Given the description of an element on the screen output the (x, y) to click on. 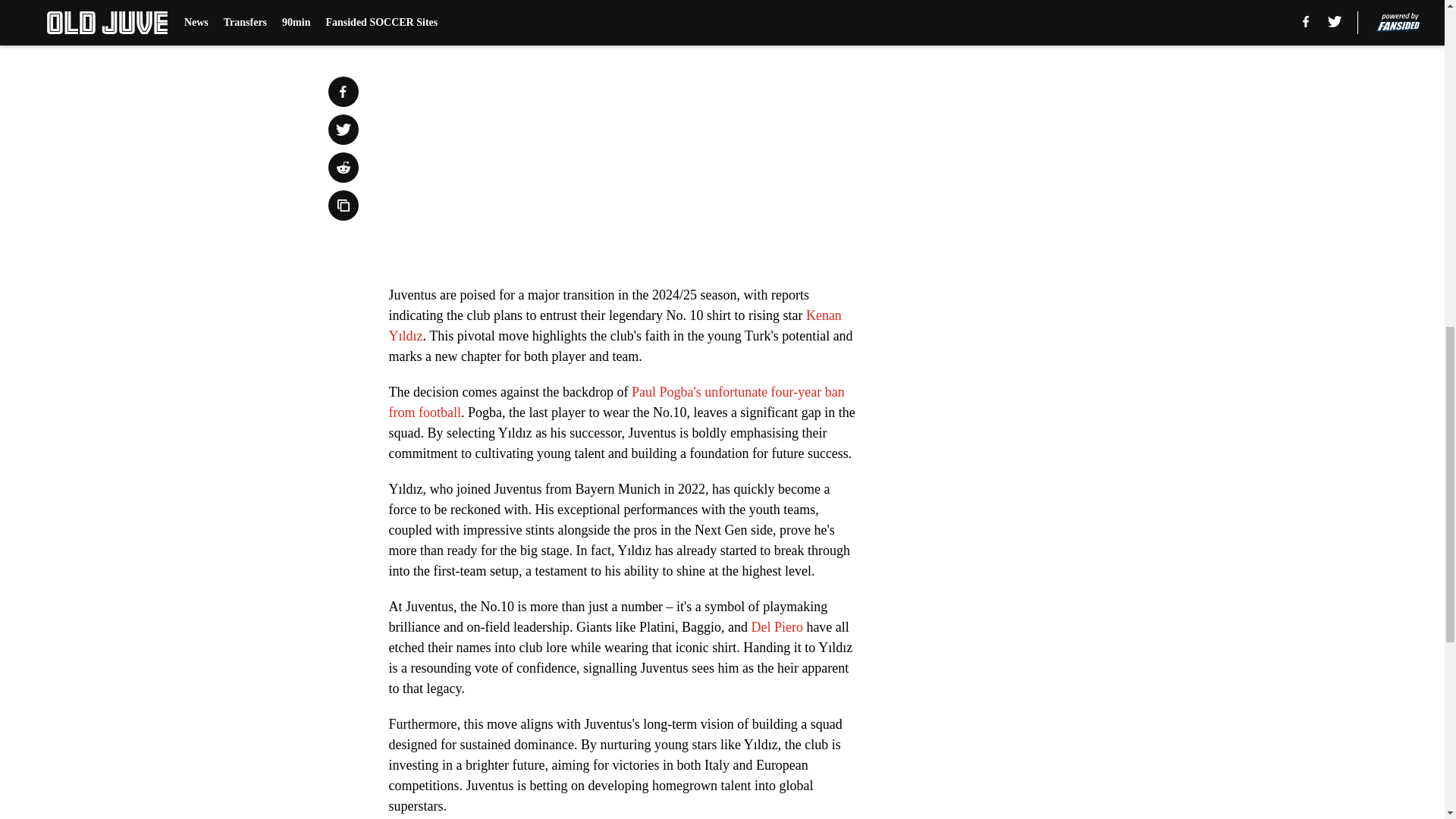
Del Piero (776, 626)
Paul Pogba's unfortunate four-year ban from football (616, 402)
